Given the description of an element on the screen output the (x, y) to click on. 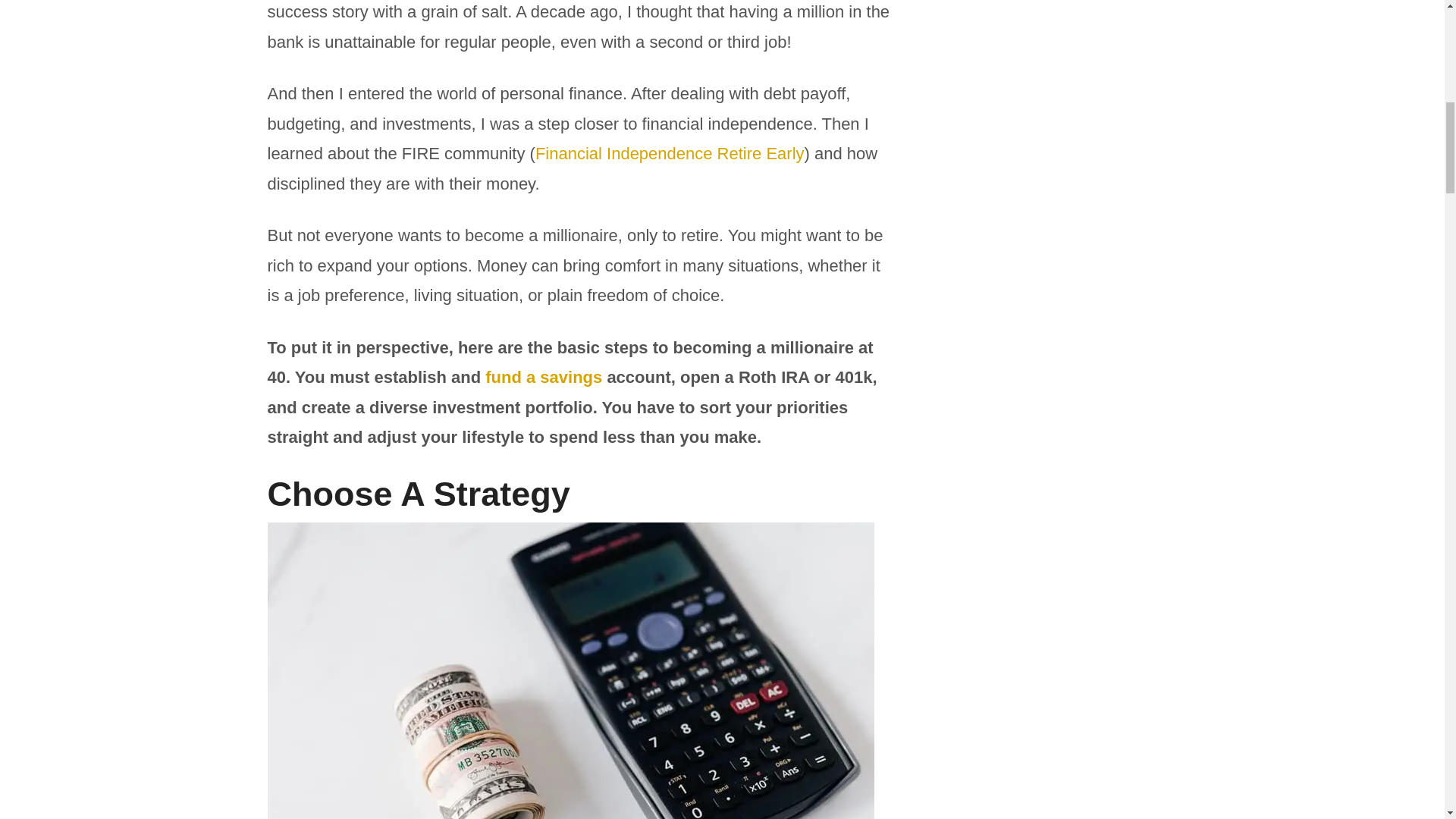
fund a savings (543, 376)
Financial Independence Retire Early (670, 153)
